Given the description of an element on the screen output the (x, y) to click on. 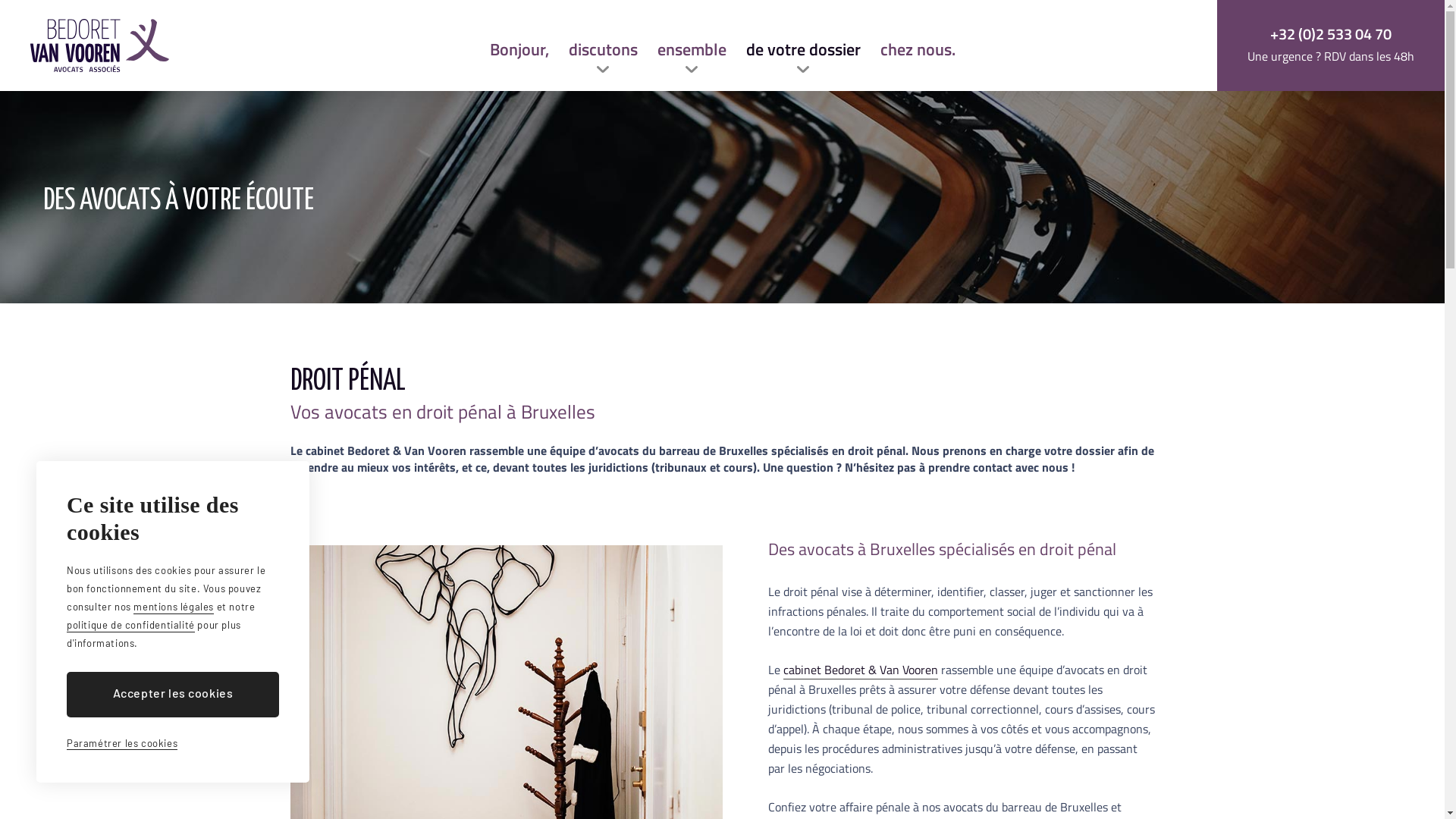
de votre dossier Element type: text (803, 45)
cabinet Bedoret & Van Vooren Element type: text (859, 669)
discutons Element type: text (602, 45)
ensemble Element type: text (690, 45)
chez nous. Element type: text (916, 45)
Bonjour, Element type: text (519, 45)
